Given the description of an element on the screen output the (x, y) to click on. 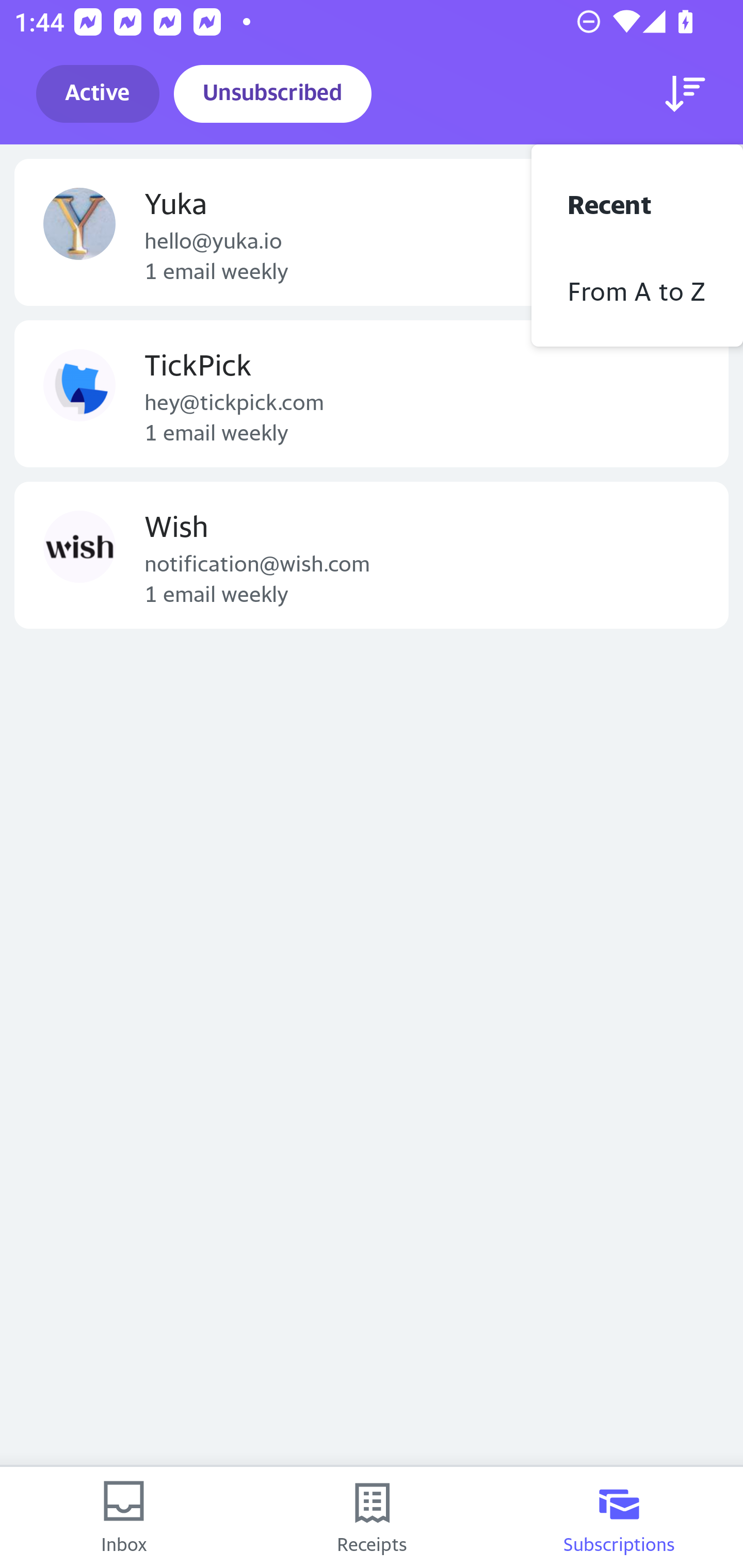
Recent (637, 202)
From A to Z (637, 289)
